Given the description of an element on the screen output the (x, y) to click on. 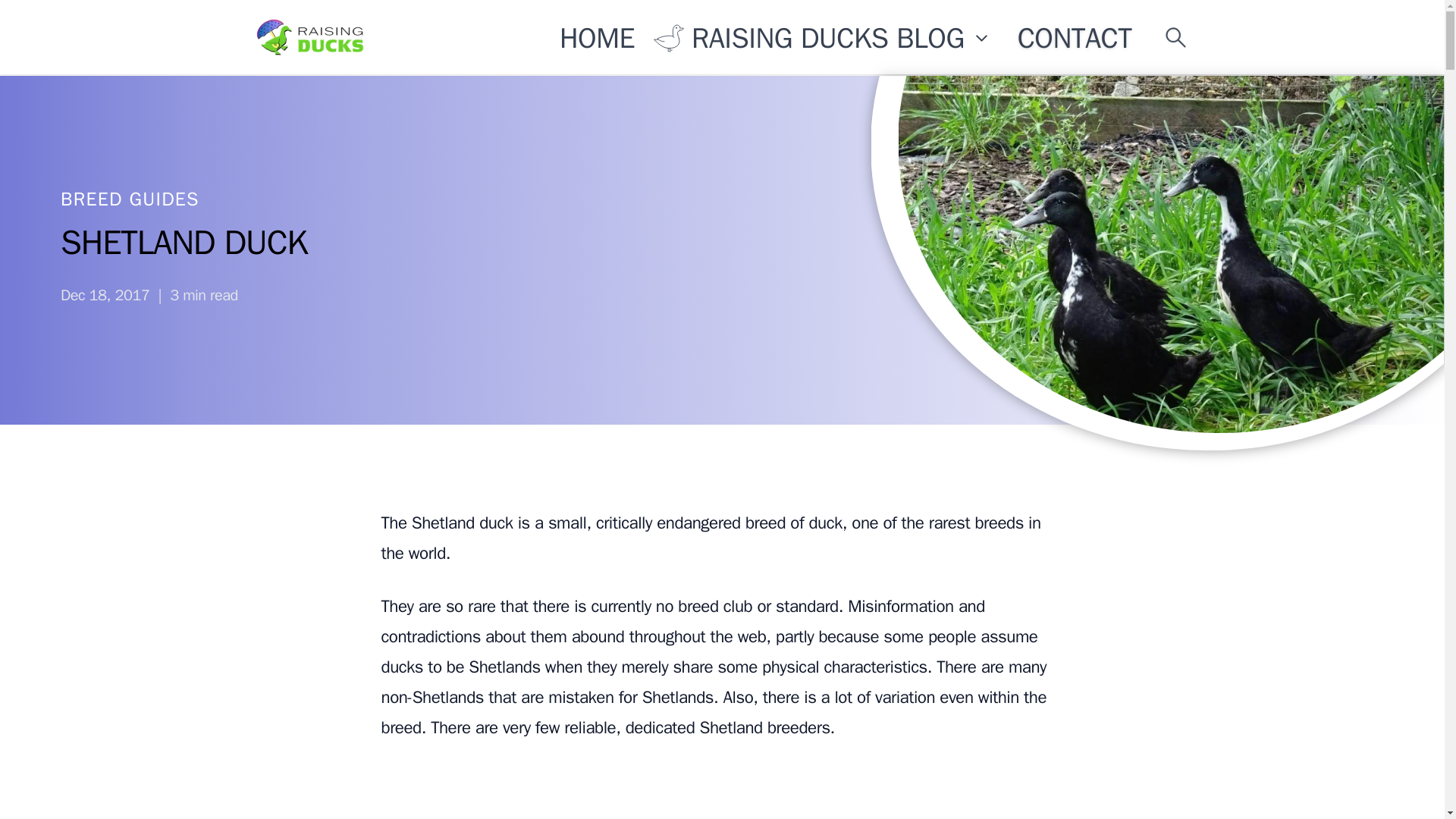
CONTACT (1074, 40)
RAISING DUCKS BLOG (822, 38)
HOME (597, 32)
Advertisement (721, 792)
